Given the description of an element on the screen output the (x, y) to click on. 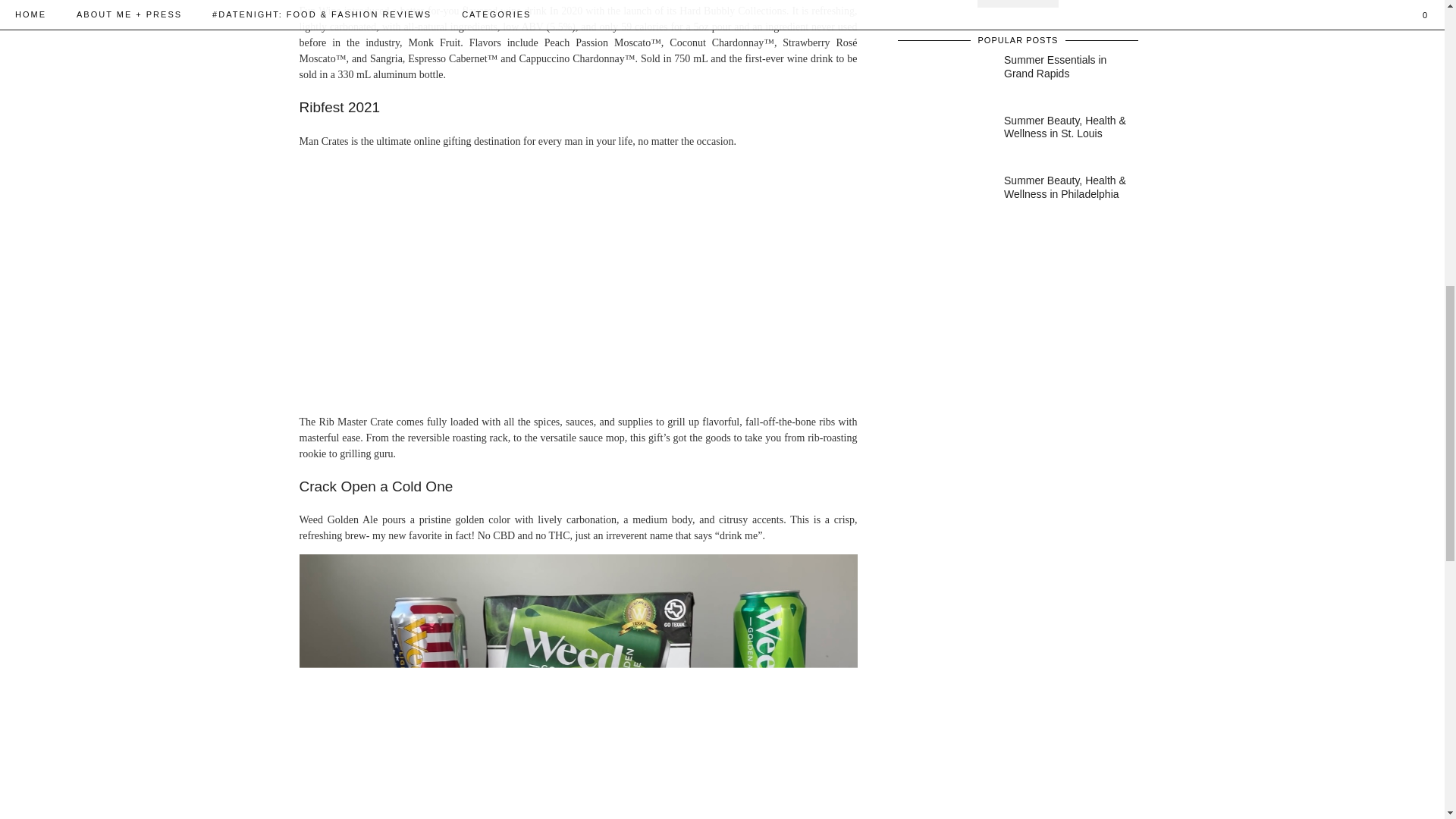
YouTube video player (510, 278)
Summer Essentials in Grand Rapids (1066, 67)
Subscribe (1017, 3)
Subscribe (1017, 3)
